Given the description of an element on the screen output the (x, y) to click on. 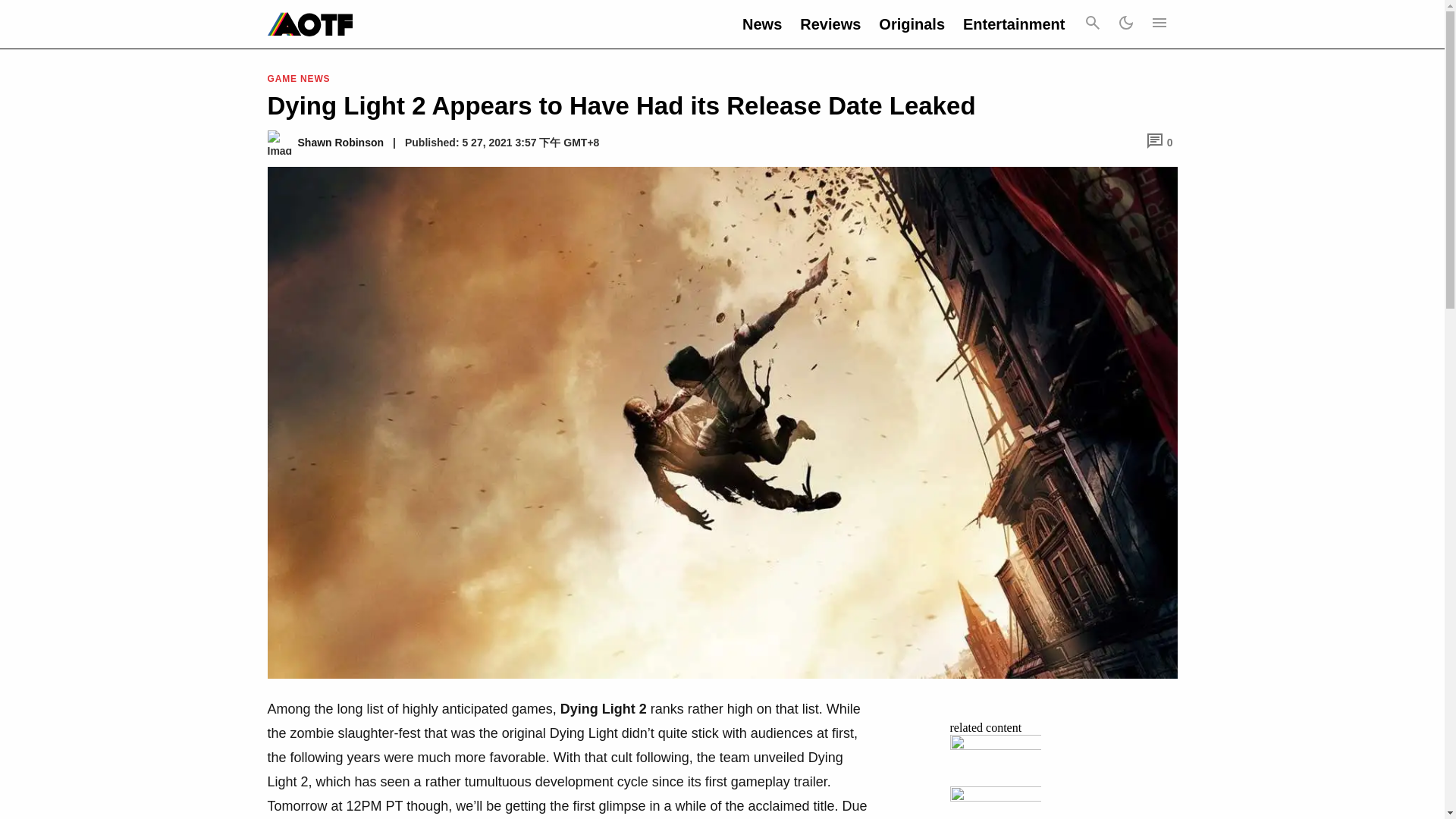
Reviews (829, 23)
Originals (911, 23)
Search (1091, 23)
Entertainment (1013, 23)
News (761, 23)
Dark Mode (1124, 23)
Expand Menu (1157, 23)
